Given the description of an element on the screen output the (x, y) to click on. 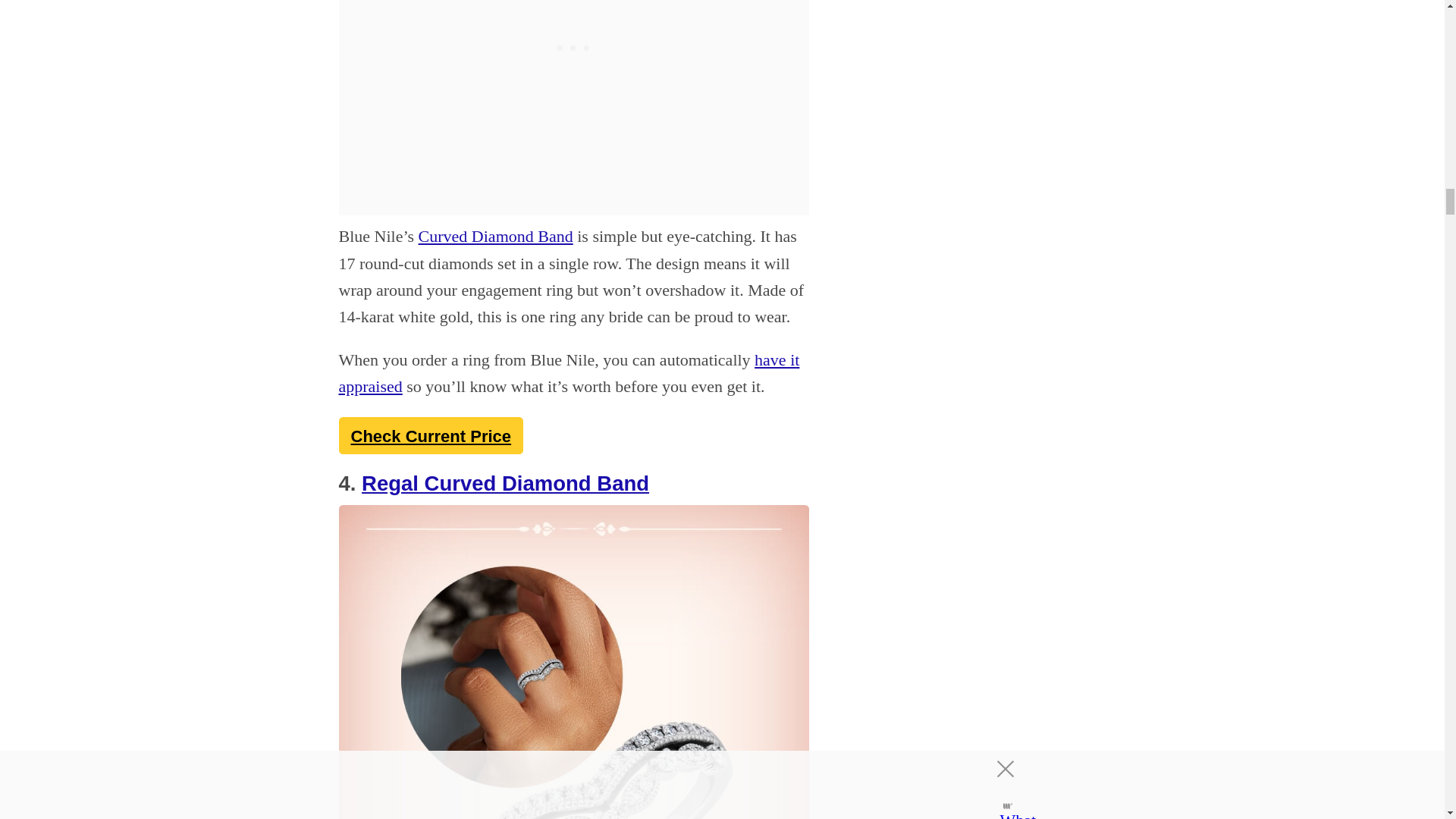
Curved Diamond Band (496, 235)
have it appraised (568, 372)
Check Current Price (429, 435)
Regal Curved Diamond Band (505, 483)
